Given the description of an element on the screen output the (x, y) to click on. 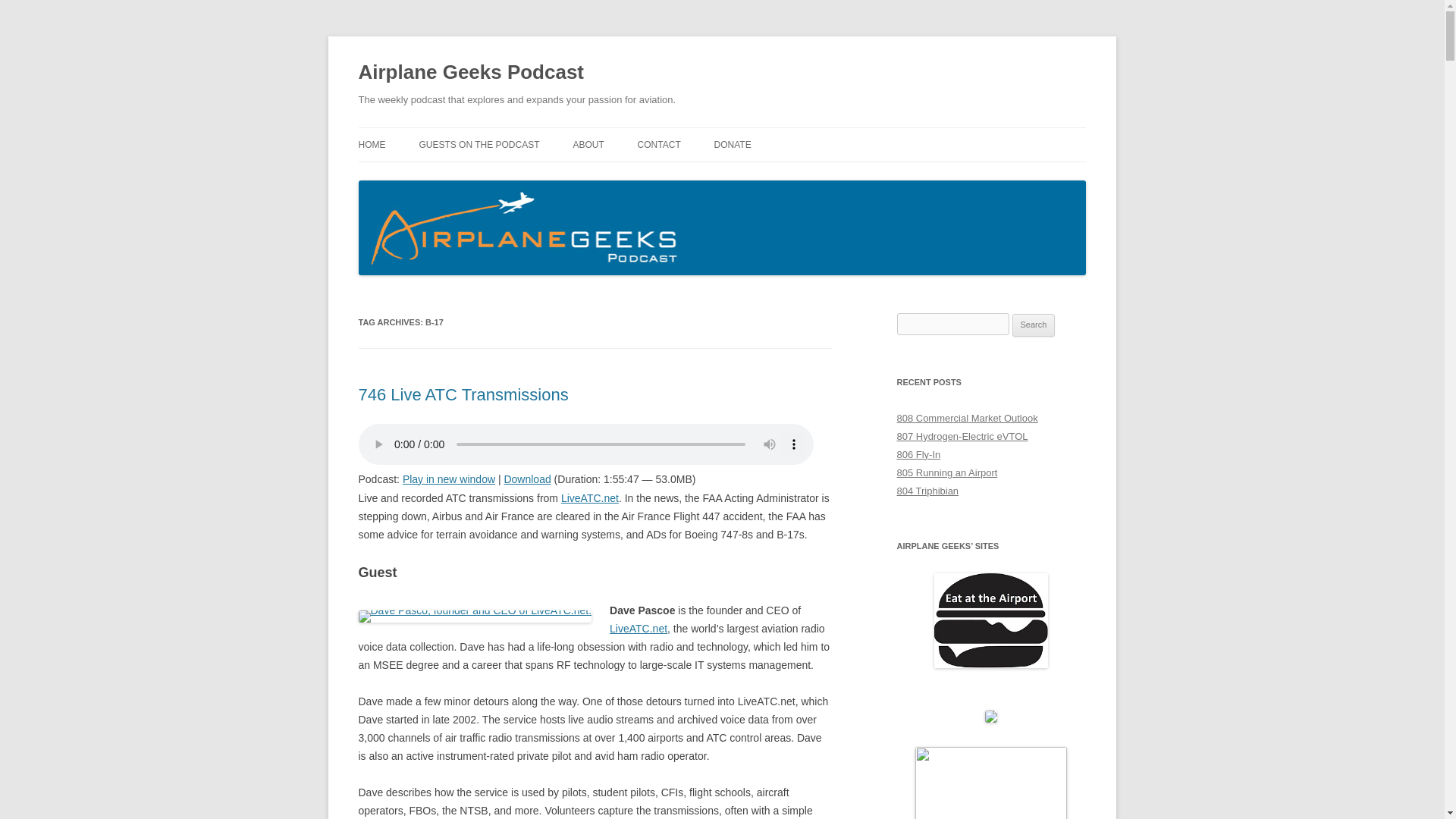
Airplane Geeks Podcast (470, 72)
GUESTS ON THE PODCAST (478, 144)
Download (526, 479)
CONTACT (659, 144)
746 Live ATC Transmissions (462, 394)
Download (526, 479)
ABOUT (588, 144)
LiveATC.net (589, 498)
DONATE (732, 144)
How to contact the Airplane Geeks (659, 144)
LiveATC.net (638, 628)
Play in new window (449, 479)
